Given the description of an element on the screen output the (x, y) to click on. 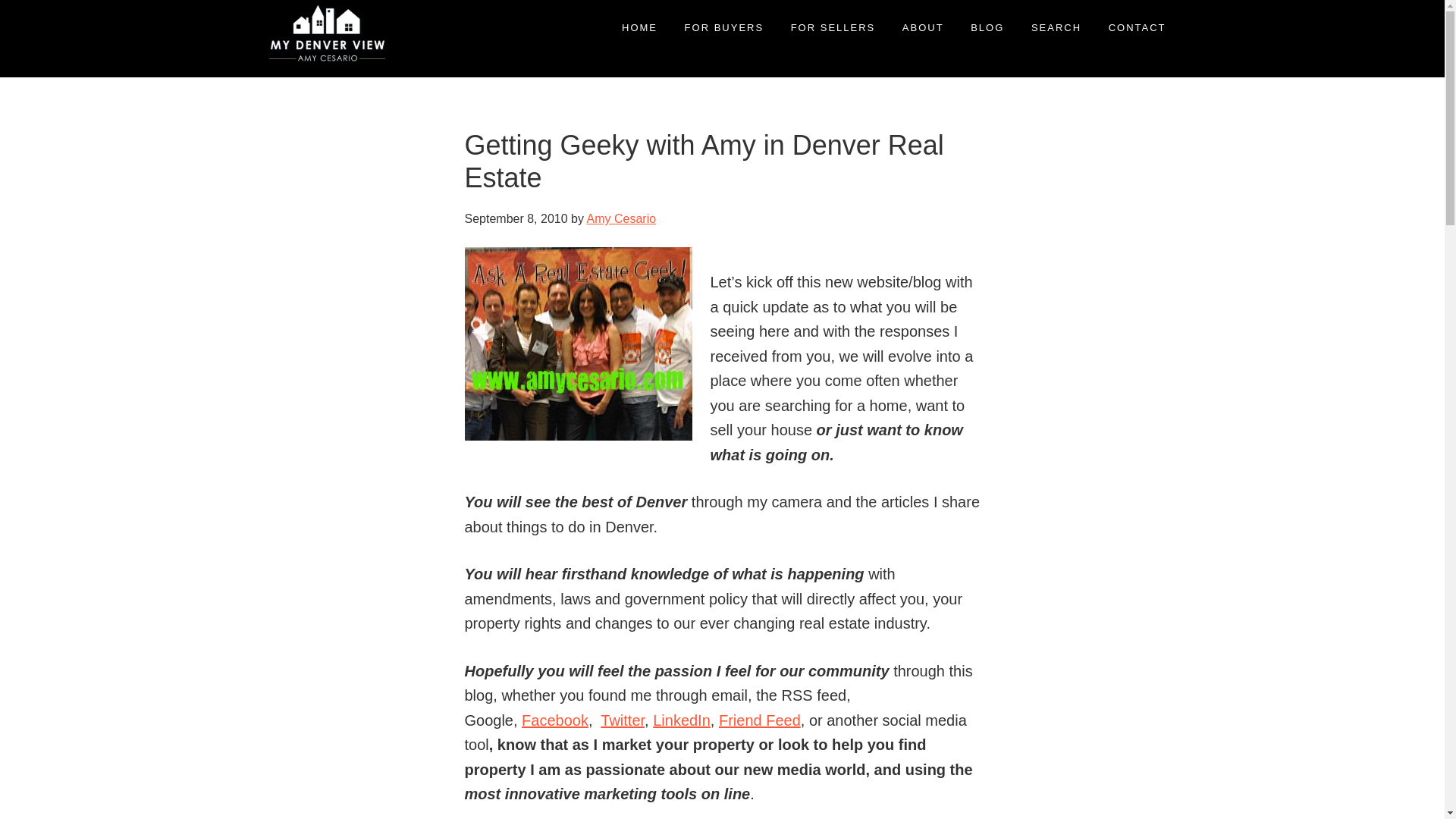
Denver Real Estate Views (295, 109)
FOR SELLERS (832, 27)
Amy Cesario (621, 218)
LinkedIn (681, 719)
SEARCH (1056, 27)
CONTACT (1137, 27)
BLOG (986, 27)
FOR BUYERS (724, 27)
Friend Feed (759, 719)
ABOUT (923, 27)
HOME (639, 27)
Twitter (622, 719)
Facebook (554, 719)
